Given the description of an element on the screen output the (x, y) to click on. 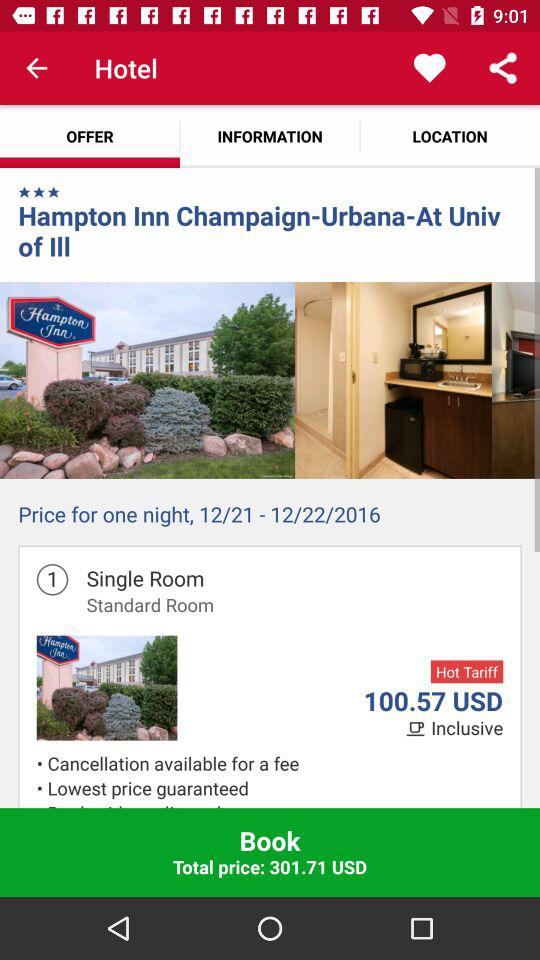
turn on the standard room icon (150, 604)
